Given the description of an element on the screen output the (x, y) to click on. 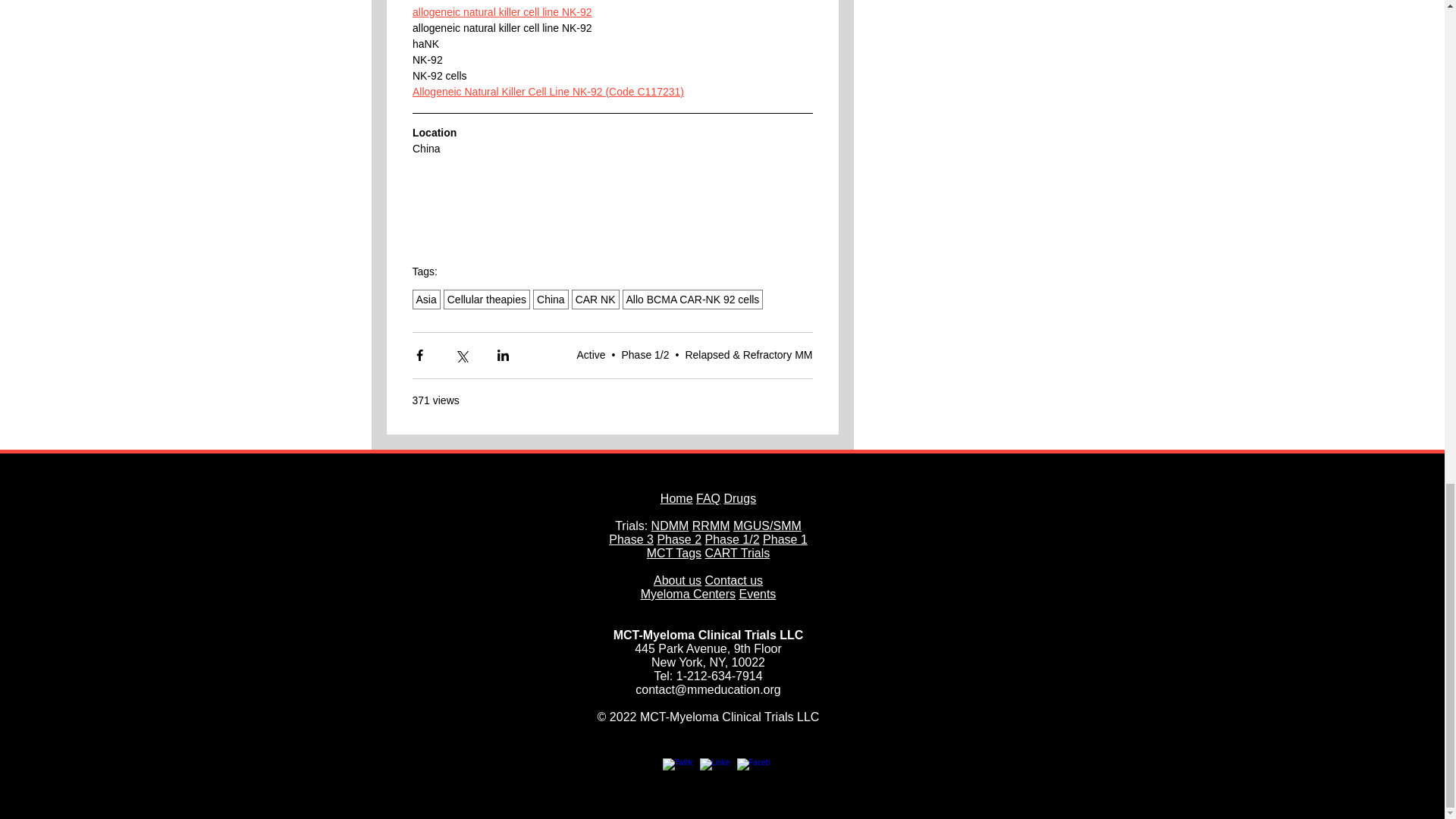
allogeneic natural killer cell line NK-92 (502, 11)
